Given the description of an element on the screen output the (x, y) to click on. 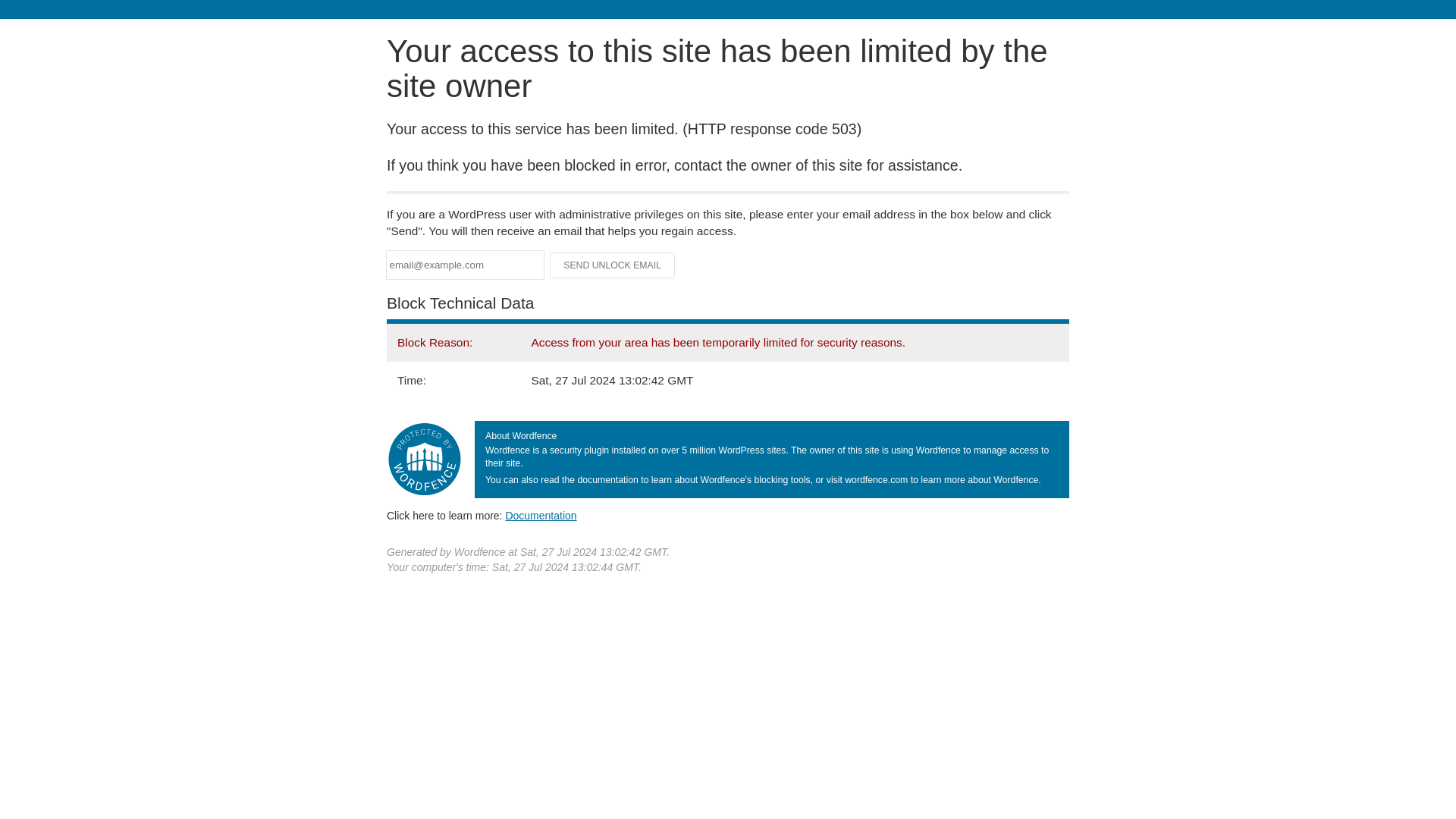
Send Unlock Email (612, 265)
Documentation (540, 515)
Send Unlock Email (612, 265)
